Given the description of an element on the screen output the (x, y) to click on. 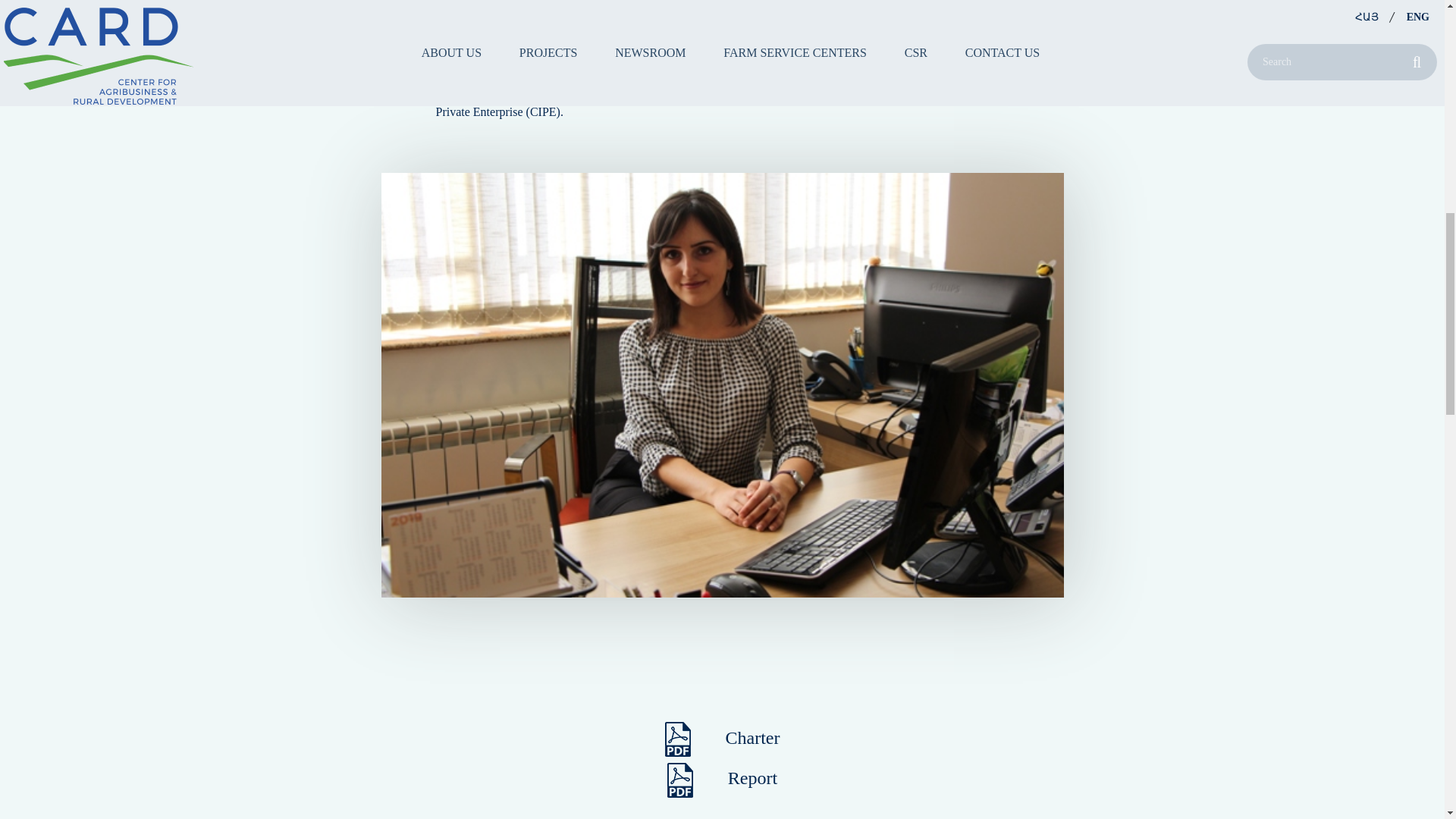
Report (721, 776)
Charter (721, 736)
Corporate Governance Center (662, 70)
